Given the description of an element on the screen output the (x, y) to click on. 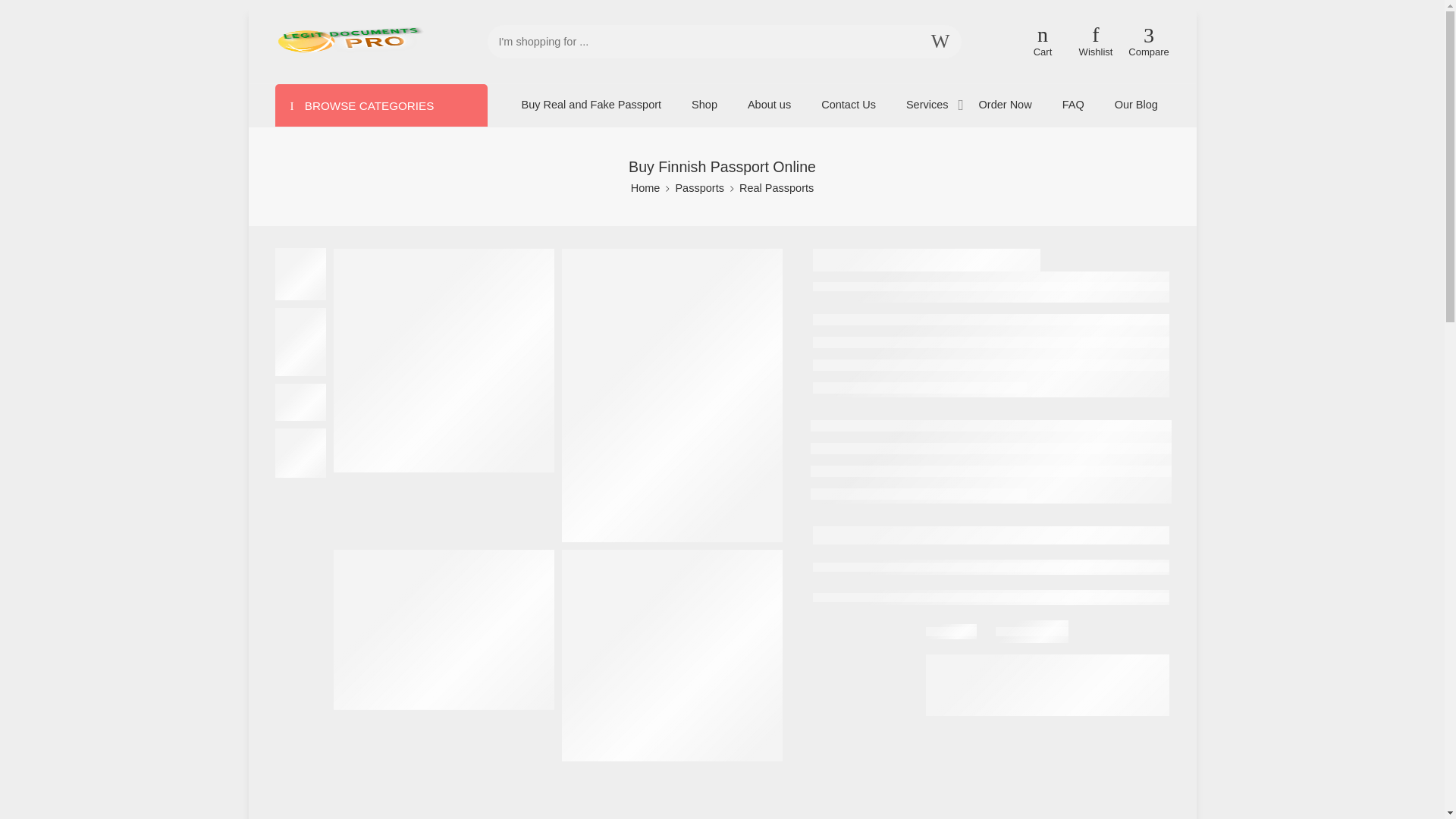
Wishlist (1095, 41)
Home (645, 188)
Passports (699, 188)
Order Now (1005, 105)
Cart (1043, 41)
Real Passports (776, 188)
Services (927, 105)
Buy Real and Fake Passport (591, 105)
Compare (1149, 41)
About us (769, 105)
Our Blog (1136, 105)
Contact Us (848, 105)
Wishlist (1095, 41)
Compare (1149, 41)
Cart (1043, 41)
